Given the description of an element on the screen output the (x, y) to click on. 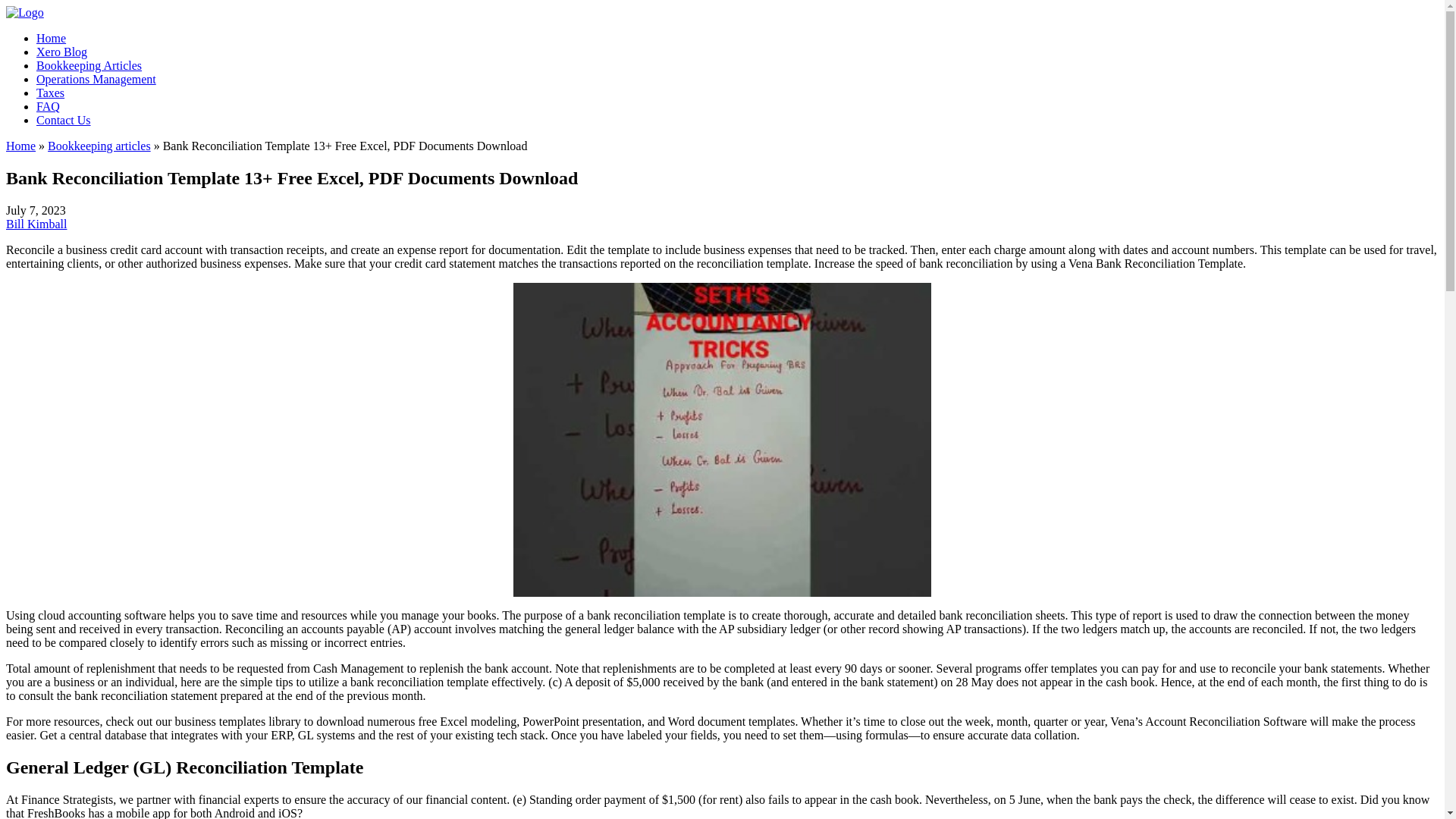
Bill Kimball (35, 223)
Operations Management (95, 78)
Bookkeeping articles (99, 145)
Home (19, 145)
Taxes (50, 92)
Home (50, 38)
Bookkeeping Articles (88, 65)
FAQ (47, 106)
Xero Blog (61, 51)
Contact Us (63, 119)
